Given the description of an element on the screen output the (x, y) to click on. 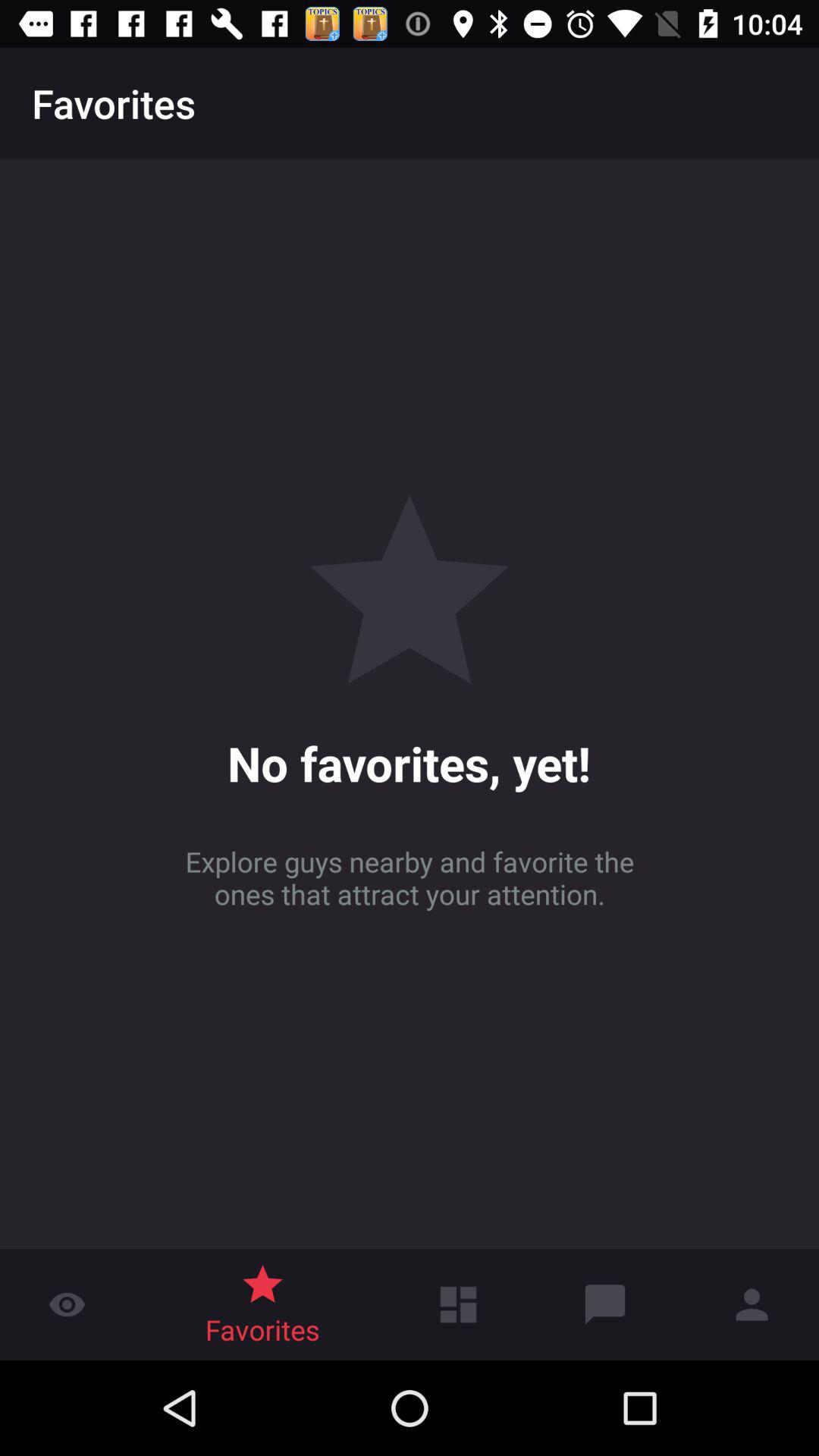
click on message icon left to person icon (604, 1304)
click on the icon to the left side of favorites in the bottom left corner (66, 1289)
